Given the description of an element on the screen output the (x, y) to click on. 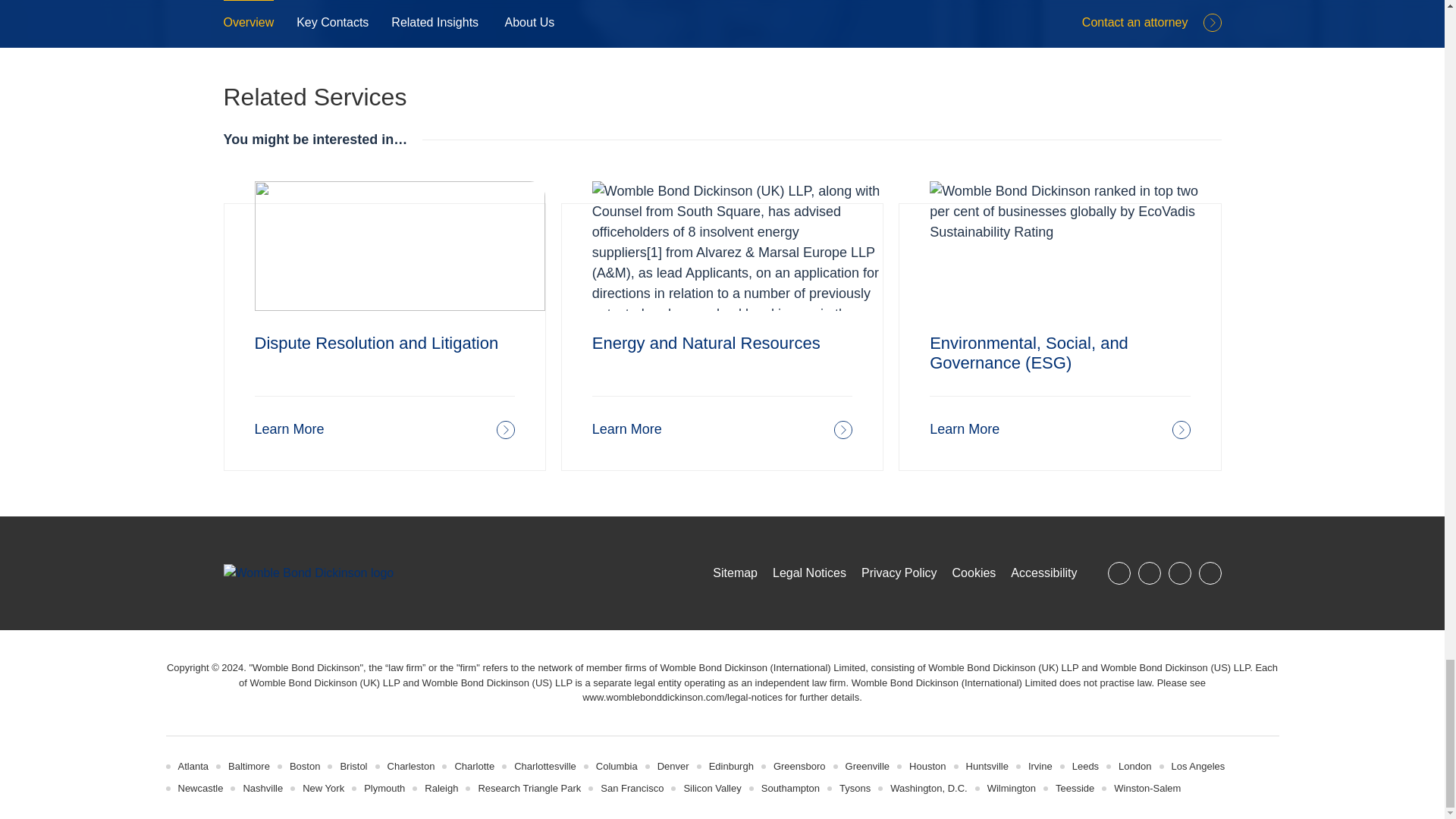
Legal Notices (682, 696)
Bristol (352, 766)
Charleston, SC, US (411, 766)
Atlanta, GA, US (192, 766)
Boston, MA, US (304, 766)
Baltimore, MD, US (248, 766)
